Given the description of an element on the screen output the (x, y) to click on. 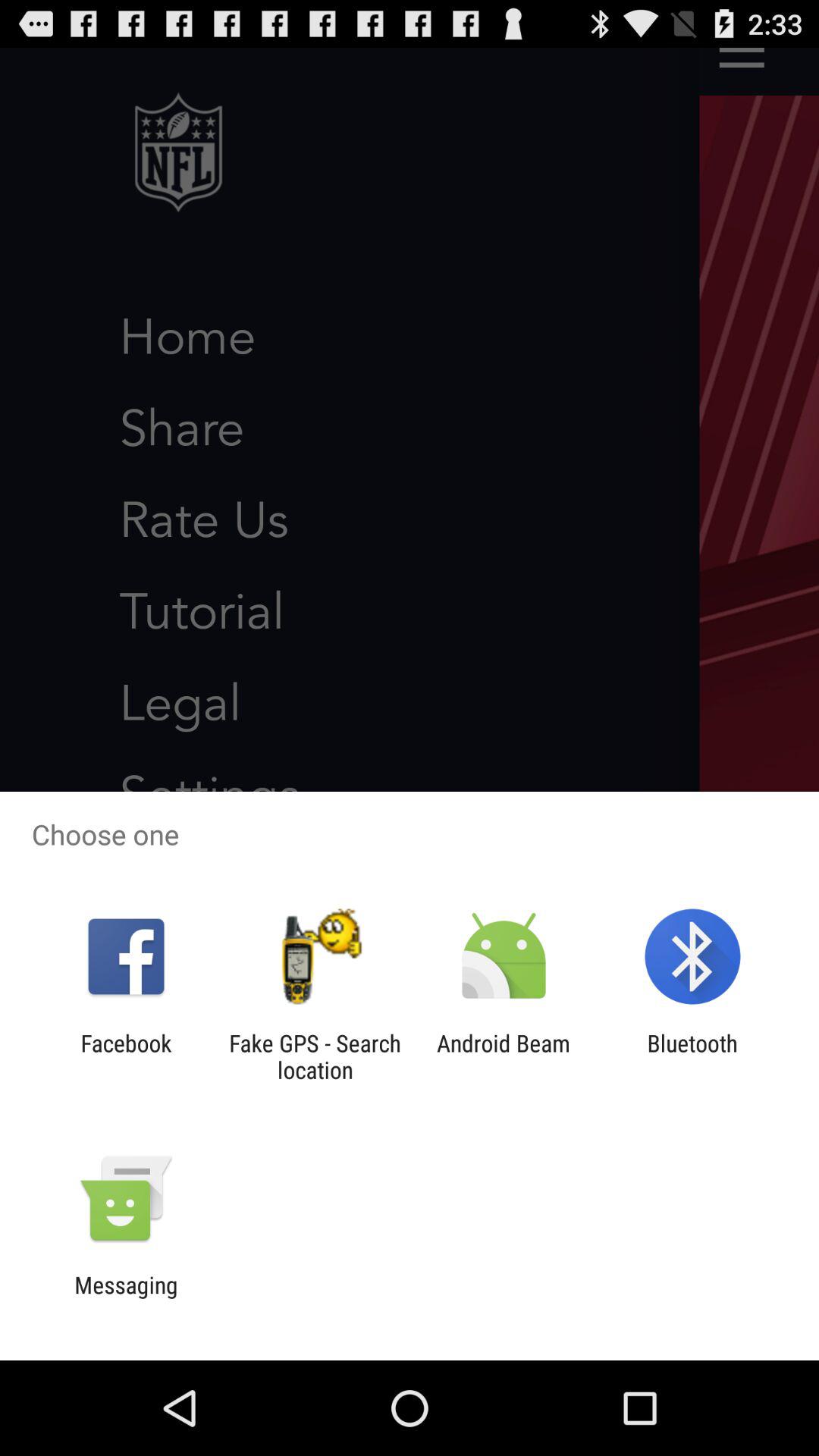
select android beam item (503, 1056)
